Given the description of an element on the screen output the (x, y) to click on. 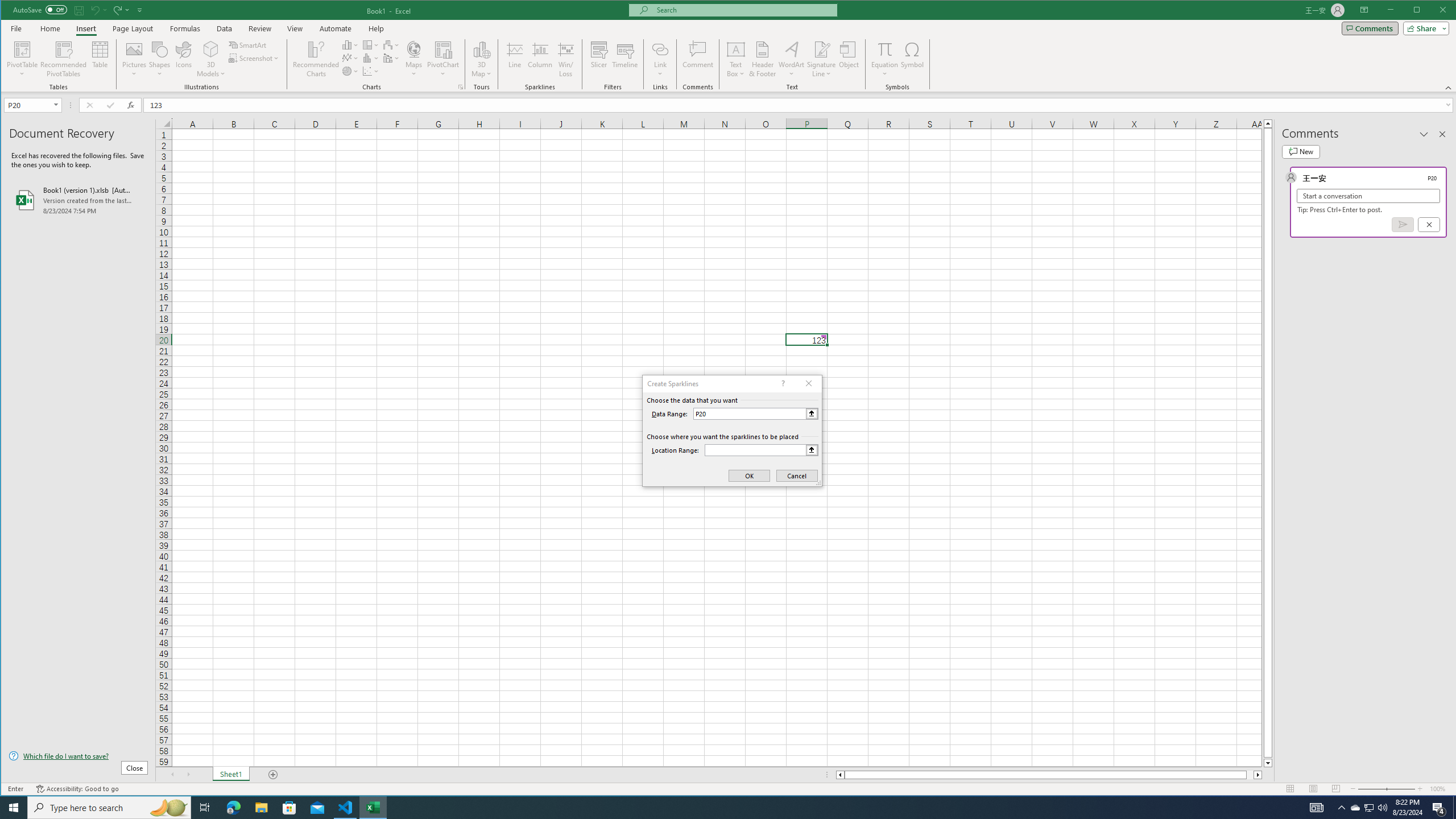
WordArt (791, 59)
Screenshot (254, 57)
Insert Scatter (X, Y) or Bubble Chart (371, 70)
Maps (413, 59)
Post comment (Ctrl + Enter) (1402, 224)
Slicer... (598, 59)
Object... (848, 59)
Equation (884, 59)
